Given the description of an element on the screen output the (x, y) to click on. 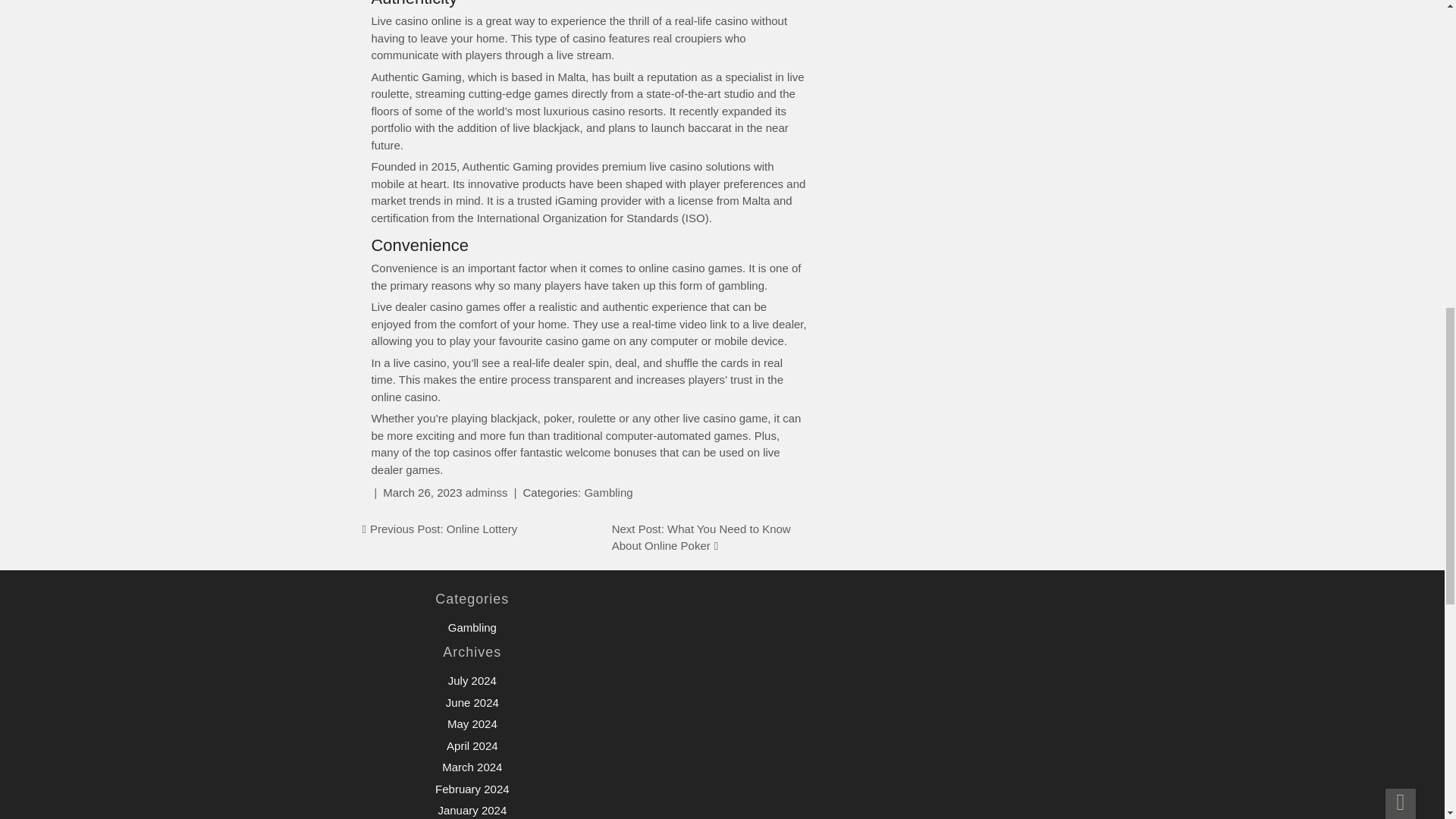
adminss (486, 492)
Posts by adminss (486, 492)
March 2024 (472, 766)
June 2024 (472, 702)
April 2024 (471, 745)
Gambling (472, 626)
January 2024 (472, 809)
Next Post: What You Need to Know About Online Poker (700, 537)
Gambling (607, 492)
Previous Post: Online Lottery (442, 528)
May 2024 (471, 723)
February 2024 (472, 788)
July 2024 (472, 680)
